Given the description of an element on the screen output the (x, y) to click on. 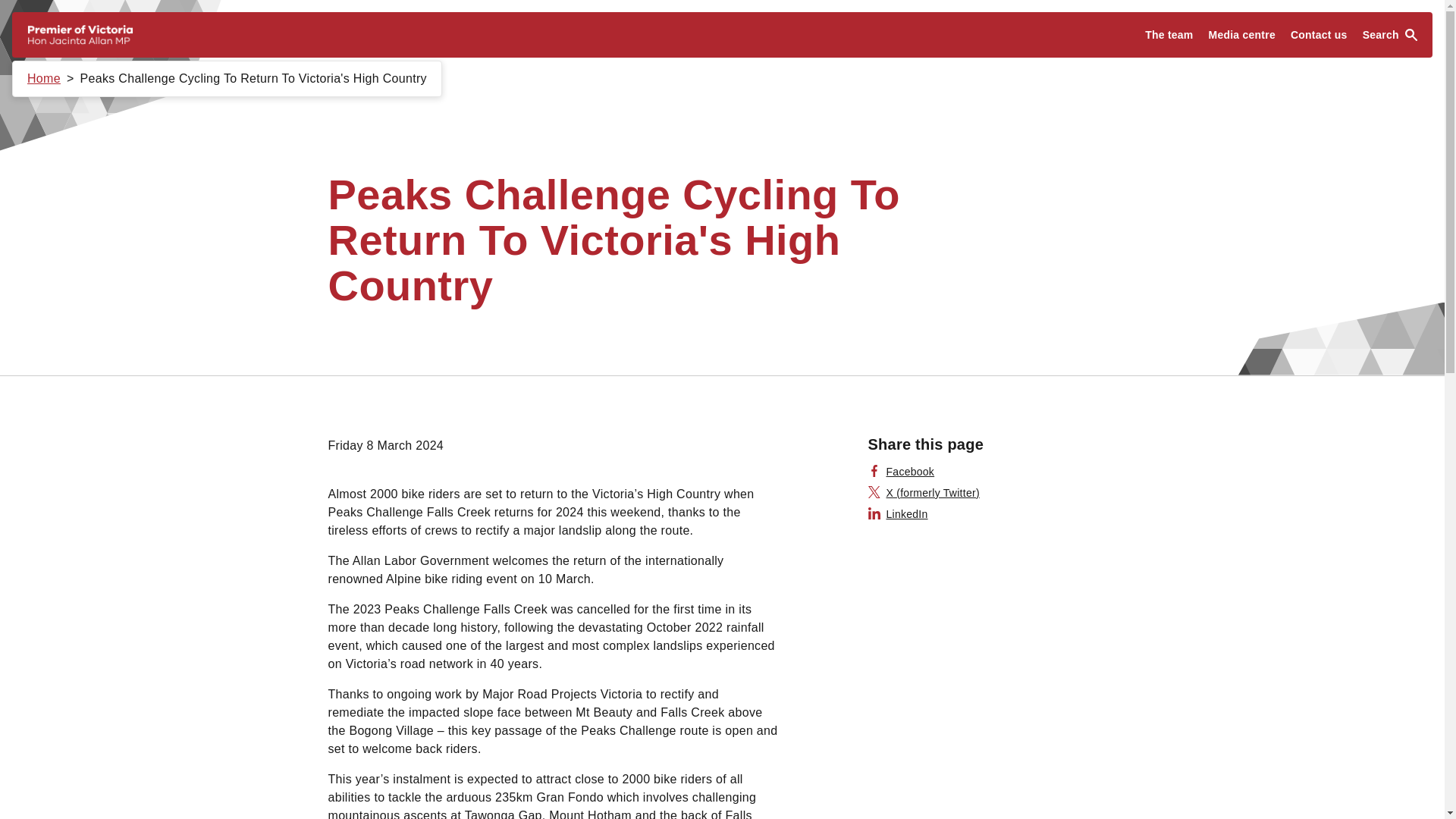
LinkedIn (897, 513)
Media centre (1241, 34)
Facebook (900, 471)
Home (44, 78)
The team (1168, 34)
Contact us (1318, 34)
